Given the description of an element on the screen output the (x, y) to click on. 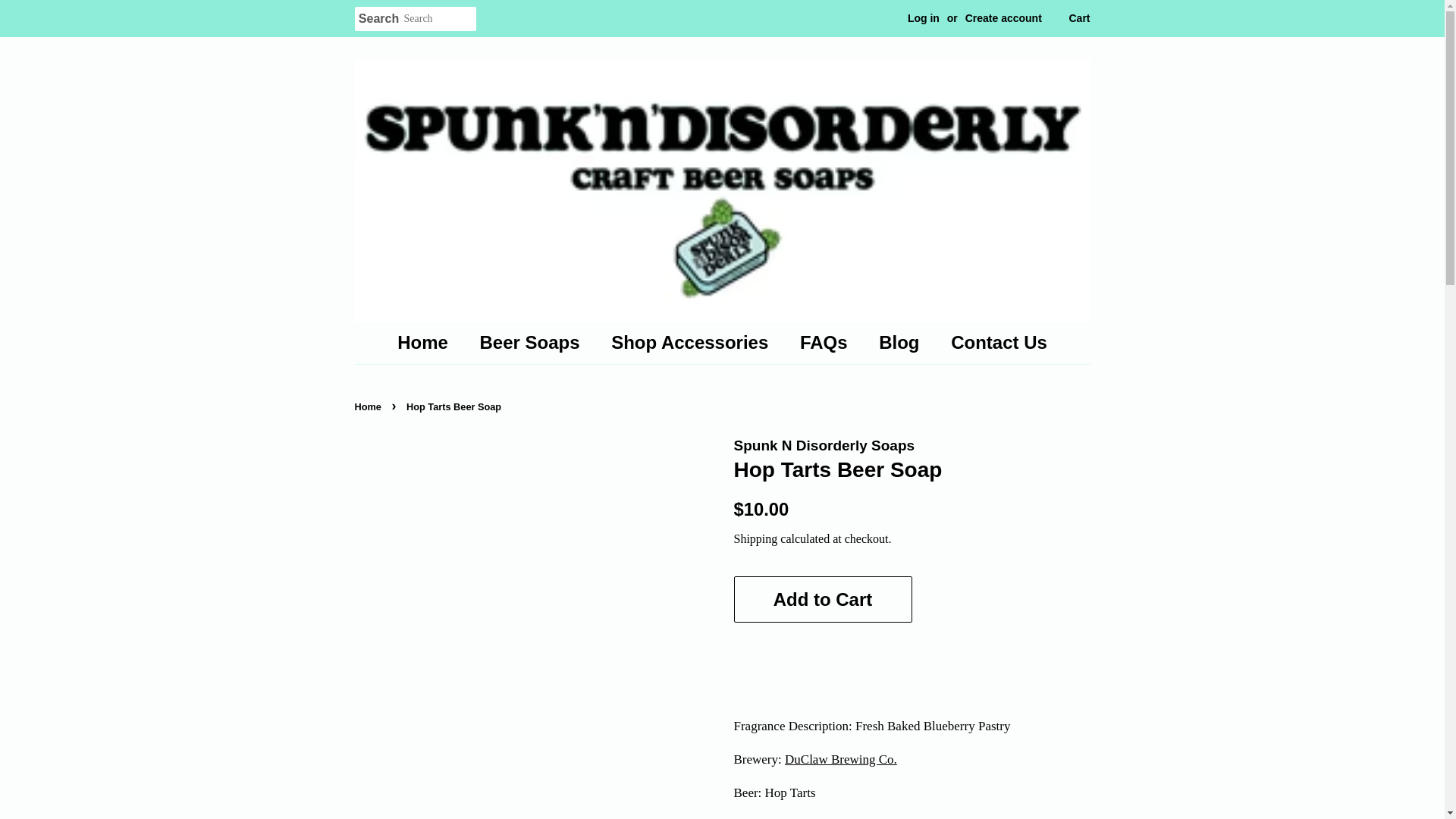
Cart (1078, 18)
Search (379, 18)
Log in (923, 18)
Create account (1003, 18)
Back to the frontpage (370, 406)
